Given the description of an element on the screen output the (x, y) to click on. 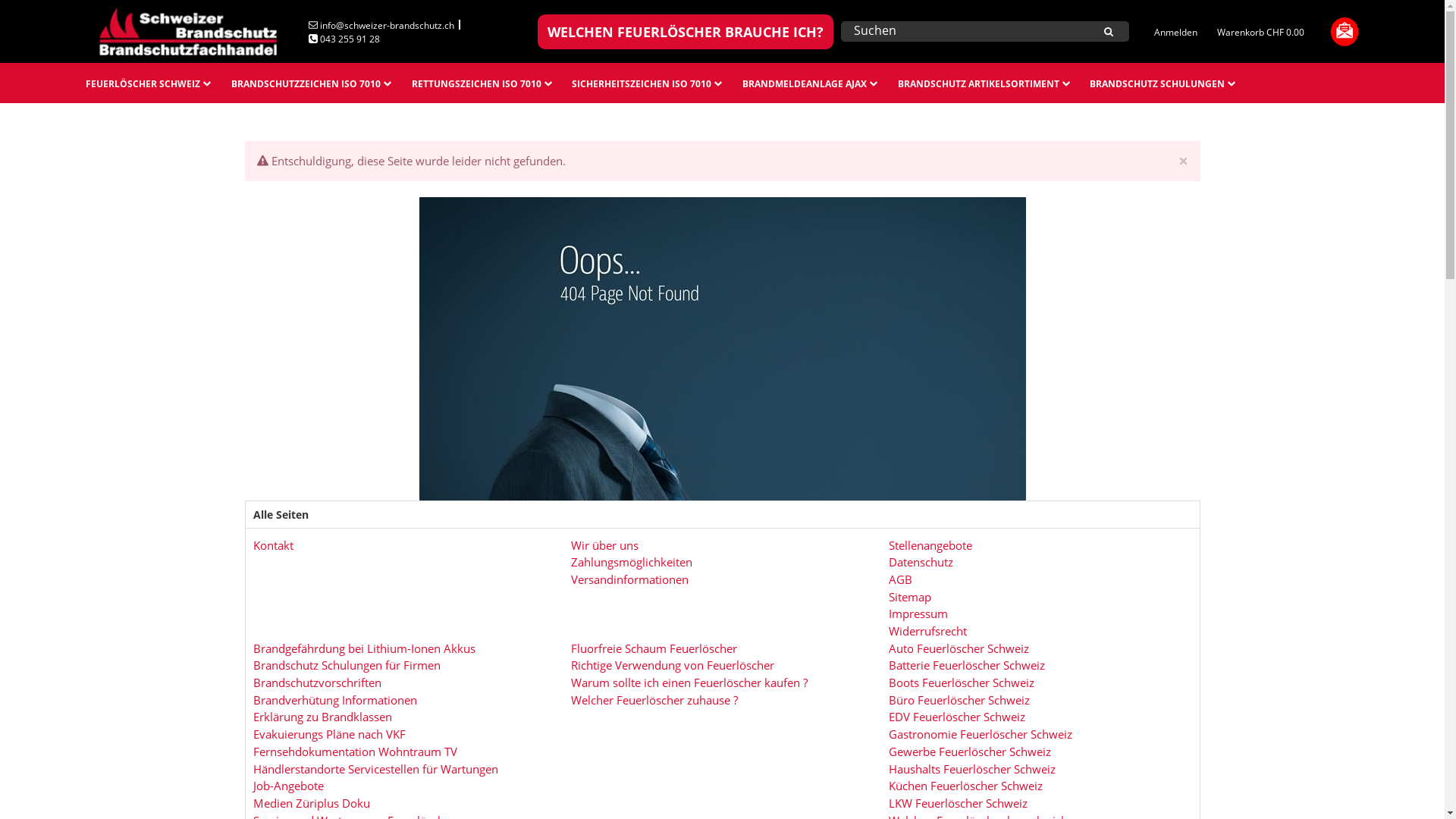
Versandinformationen Element type: text (629, 578)
Brandschutzvorschriften Element type: text (317, 681)
BRANDSCHUTZZEICHEN ISO 7010 Element type: text (311, 82)
Widerrufsrecht Element type: text (927, 629)
Anmelden Element type: text (1175, 31)
info@schweizer-brandschutz.ch Element type: text (381, 24)
Sitemap Element type: text (909, 594)
AGB Element type: text (900, 578)
BRANDMELDEANLAGE AJAX Element type: text (810, 82)
BRANDSCHUTZ ARTIKELSORTIMENT Element type: text (984, 82)
Job-Angebote Element type: text (288, 784)
Kontakt Element type: text (273, 543)
BRANDSCHUTZ SCHULUNGEN Element type: text (1162, 82)
Kontaktformular Element type: hover (1343, 30)
RETTUNGSZEICHEN ISO 7010 Element type: text (481, 82)
Stellenangebote Element type: text (930, 543)
Fernsehdokumentation Wohntraum TV Element type: text (355, 750)
043 255 91 28 Element type: text (343, 38)
Datenschutz Element type: text (920, 560)
Impressum Element type: text (917, 612)
Warenkorb  CHF 0.00 Element type: text (1260, 31)
Schweizer Brandschutz Element type: hover (188, 31)
SICHERHEITSZEICHEN ISO 7010 Element type: text (646, 82)
